Given the description of an element on the screen output the (x, y) to click on. 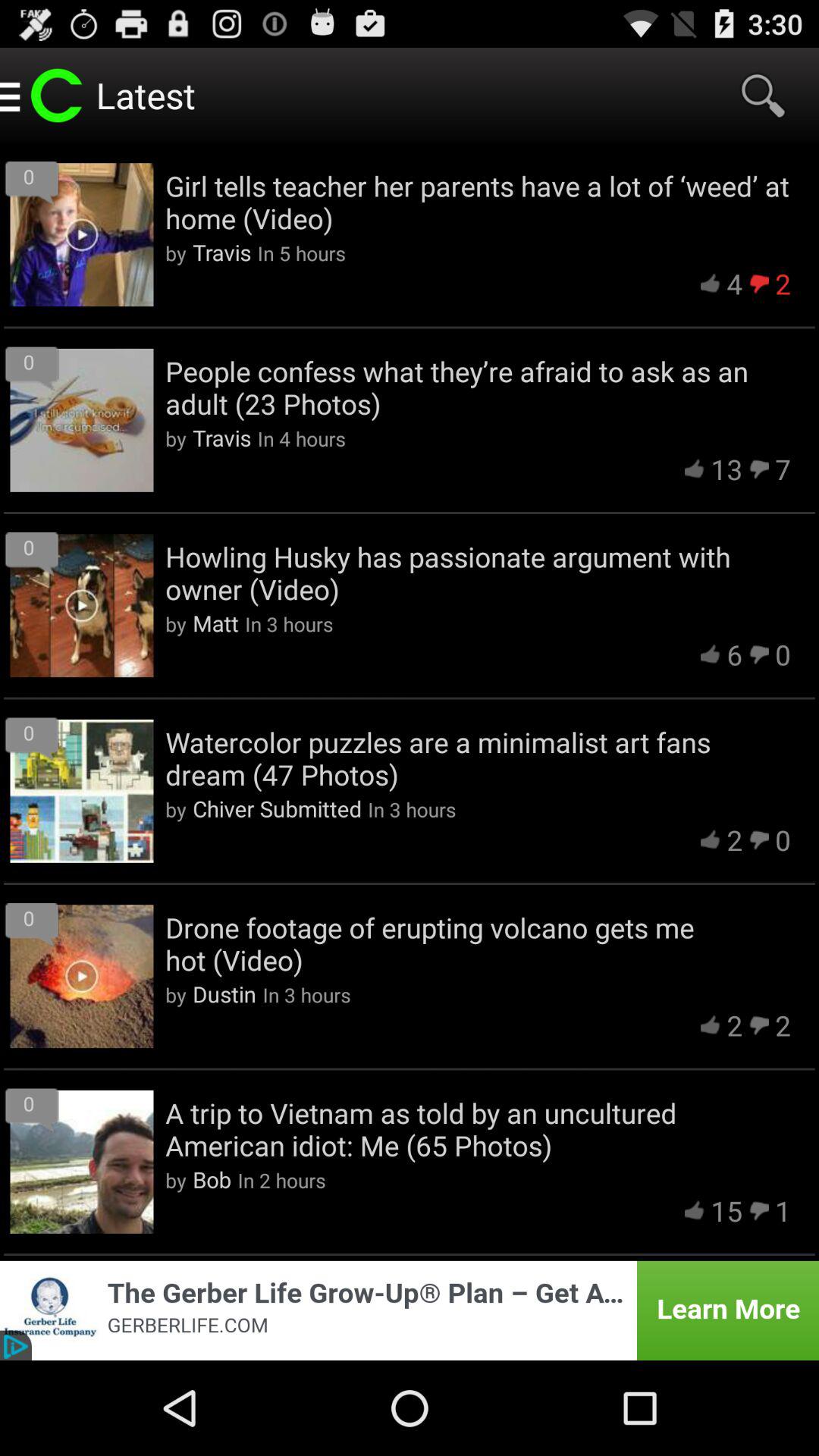
tap item to the left of the in 3 hours item (276, 808)
